Given the description of an element on the screen output the (x, y) to click on. 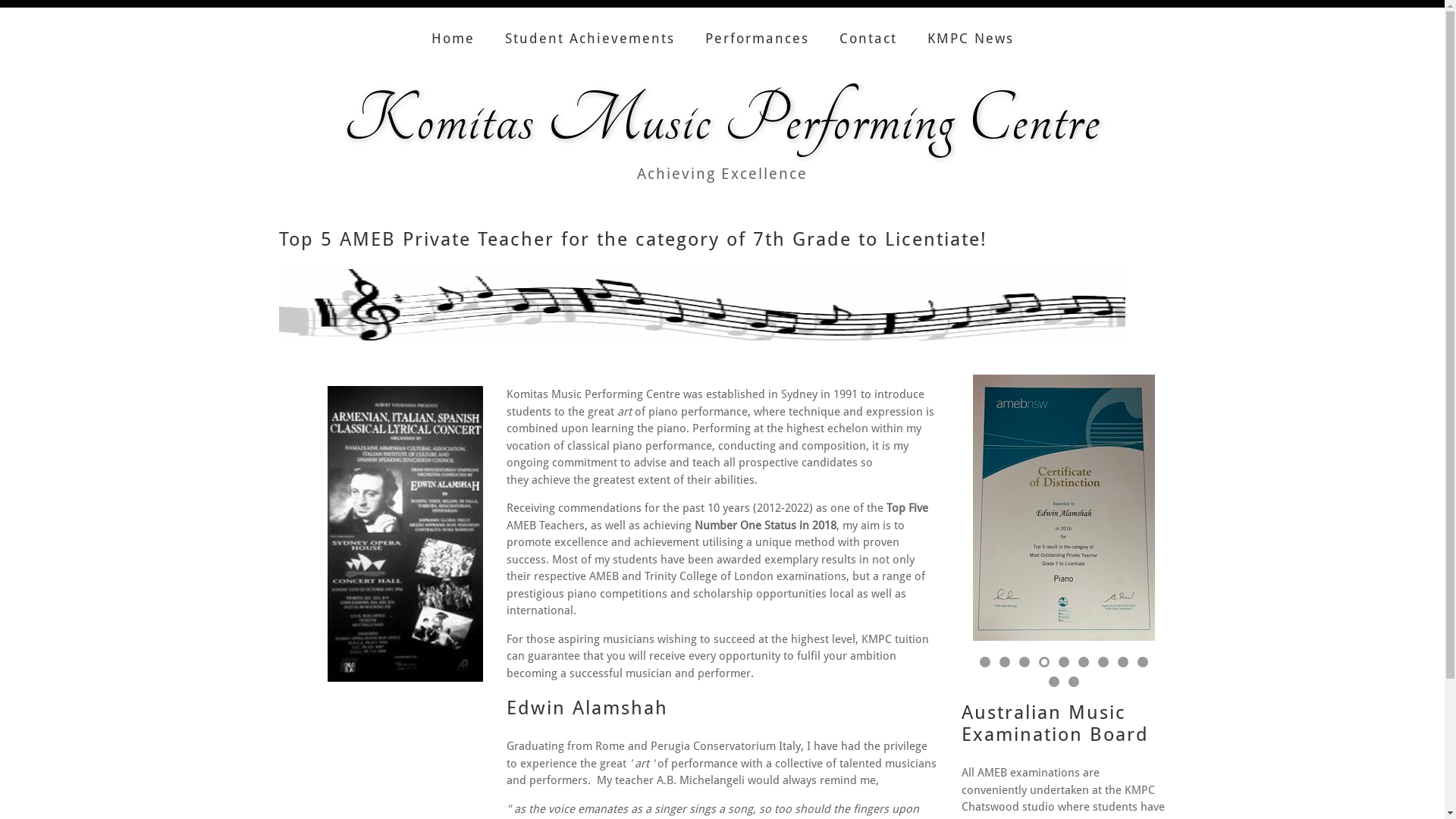
9 Element type: text (1142, 661)
7 Element type: text (1103, 661)
10 Element type: text (1053, 681)
KMPC News Element type: text (970, 26)
11 Element type: text (1072, 681)
6 Element type: text (1083, 661)
Komitas Music Performing Centre Element type: text (722, 120)
4 Element type: text (1043, 661)
Home Element type: text (453, 26)
5 Element type: text (1063, 661)
1 Element type: text (984, 661)
Student Achievements Element type: text (588, 26)
3 Element type: text (1024, 661)
Contact Element type: text (868, 26)
8 Element type: text (1122, 661)
Performances Element type: text (756, 26)
2 Element type: text (1004, 661)
